Given the description of an element on the screen output the (x, y) to click on. 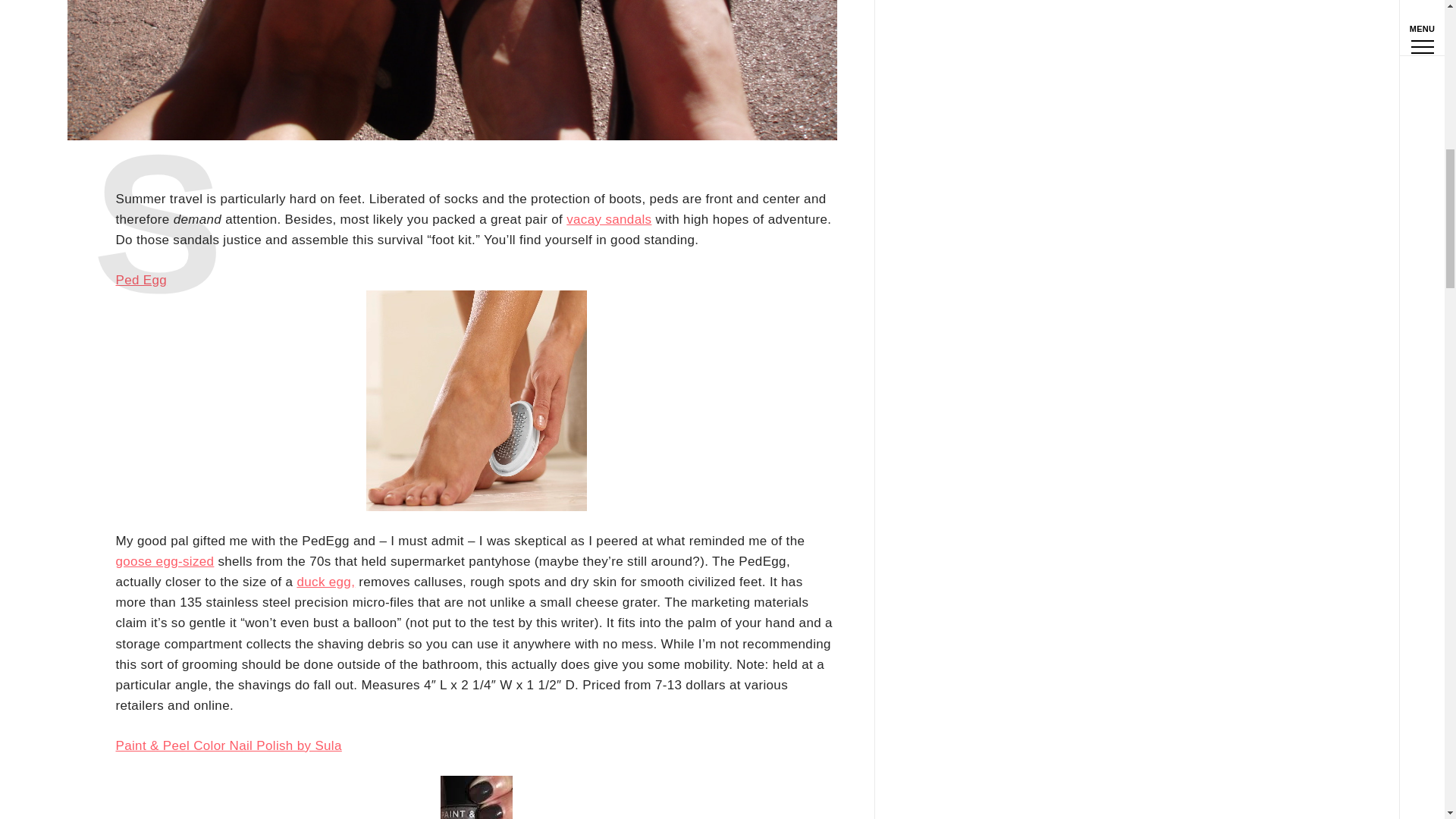
vacay sandals (608, 219)
Ped Egg (141, 279)
goose egg-sized (164, 561)
